Given the description of an element on the screen output the (x, y) to click on. 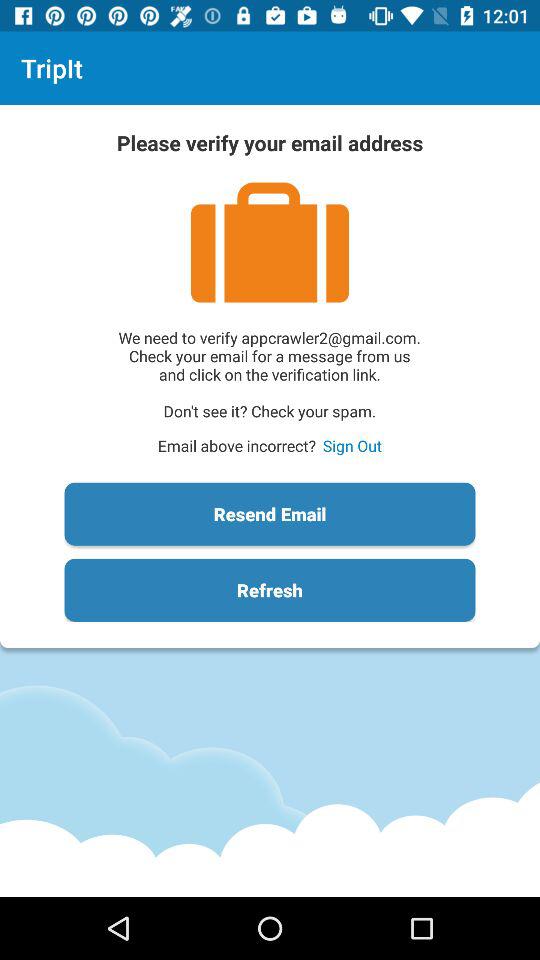
scroll to the resend email (269, 513)
